Given the description of an element on the screen output the (x, y) to click on. 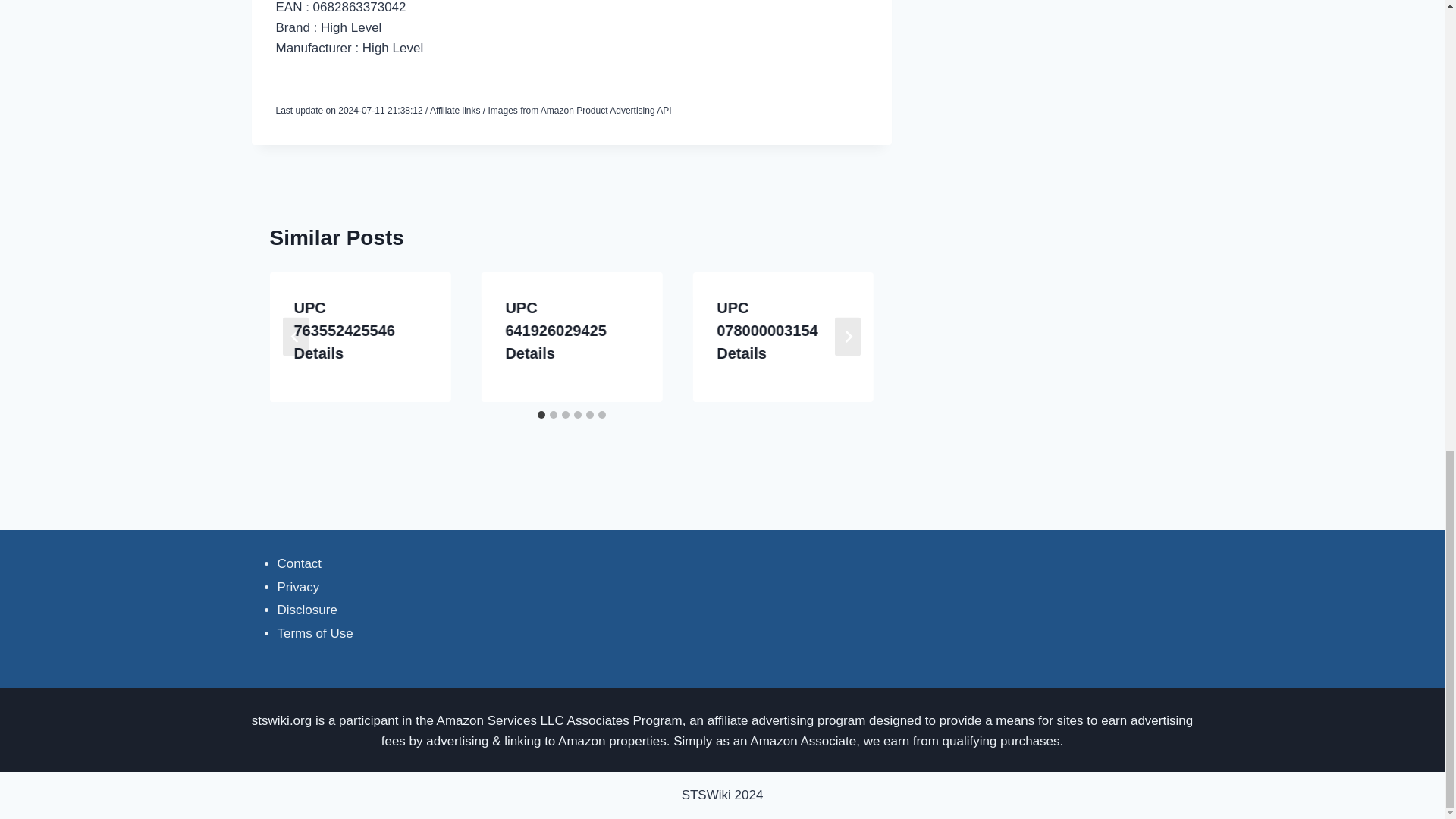
Disclosure (307, 609)
Contact (299, 563)
UPC 078000003154 Details (766, 330)
Privacy (299, 586)
UPC 641926029425 Details (555, 330)
UPC 763552425546 Details (344, 330)
Terms of Use (315, 633)
